Given the description of an element on the screen output the (x, y) to click on. 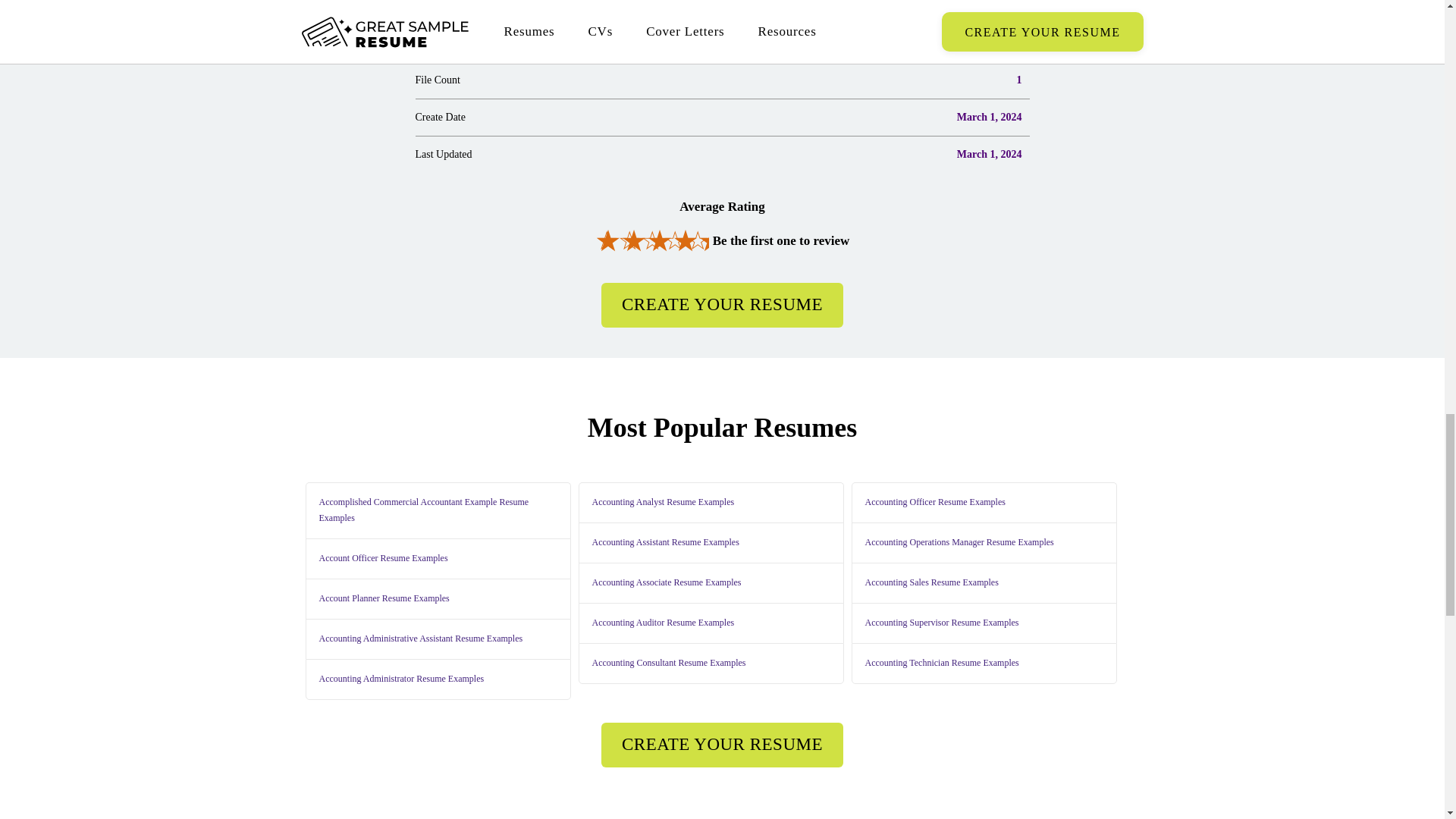
Account Planner Resume (382, 598)
Accounting Consultant Resume (667, 663)
Accounting Operations Manager Resume (957, 542)
Accounting Officer Resume (933, 502)
Accounting Assistant Resume (663, 542)
Accounting Associate Resume (665, 582)
Accounting Analyst Resume (661, 502)
Accounting Administrative Assistant Resume (419, 638)
Account Officer Resume (381, 558)
Accomplished Commercial Accountant Resume Example (436, 510)
Accounting Auditor Resume (661, 623)
Accounting Administrator Resume (400, 678)
Accounting Sales Resume (930, 582)
